Given the description of an element on the screen output the (x, y) to click on. 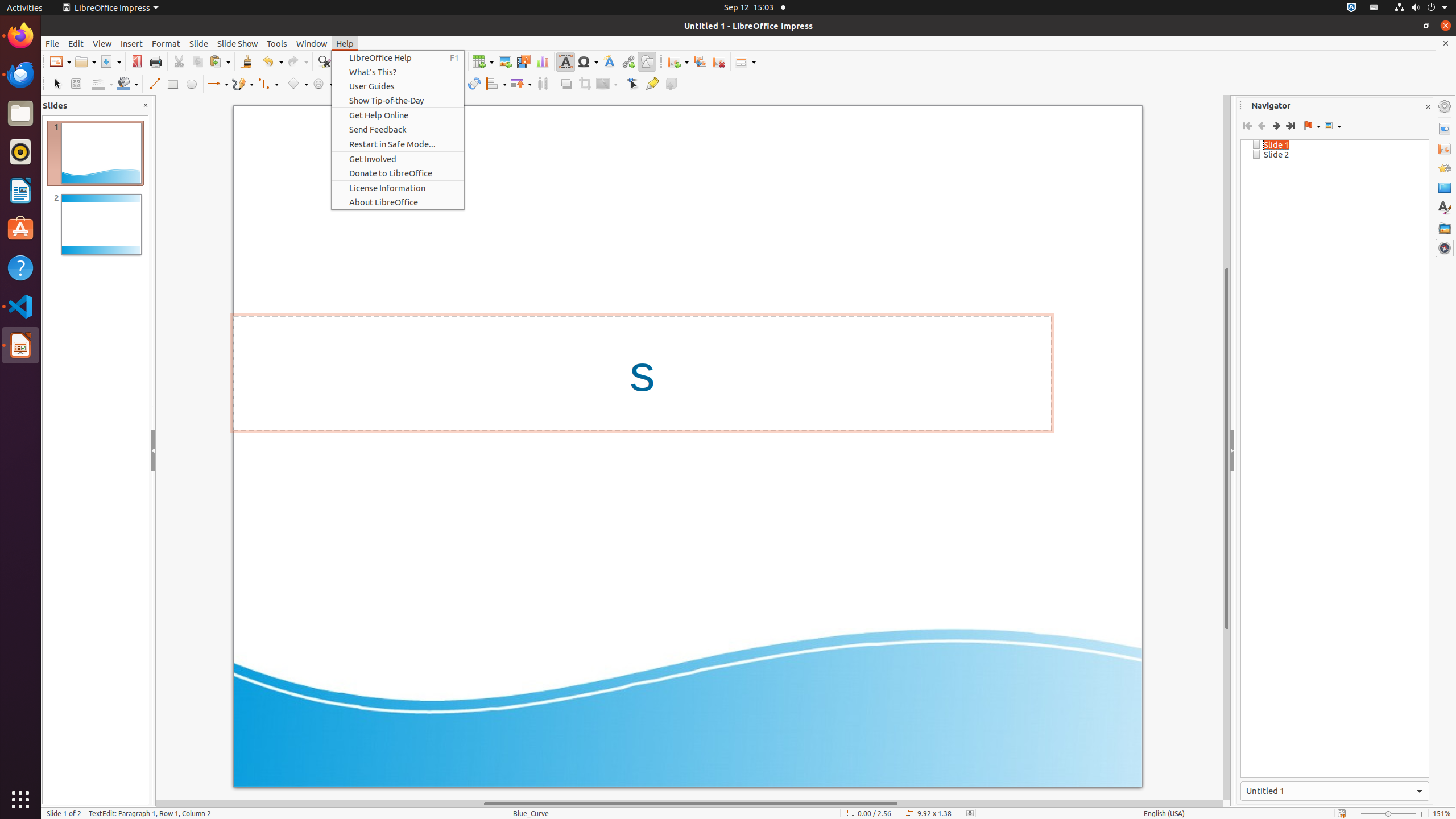
Slide Transition Element type: radio-button (1444, 148)
Edit Element type: menu (75, 43)
Lines and Arrows Element type: push-button (217, 83)
Rhythmbox Element type: push-button (20, 151)
Last Slide Element type: push-button (1290, 125)
